Given the description of an element on the screen output the (x, y) to click on. 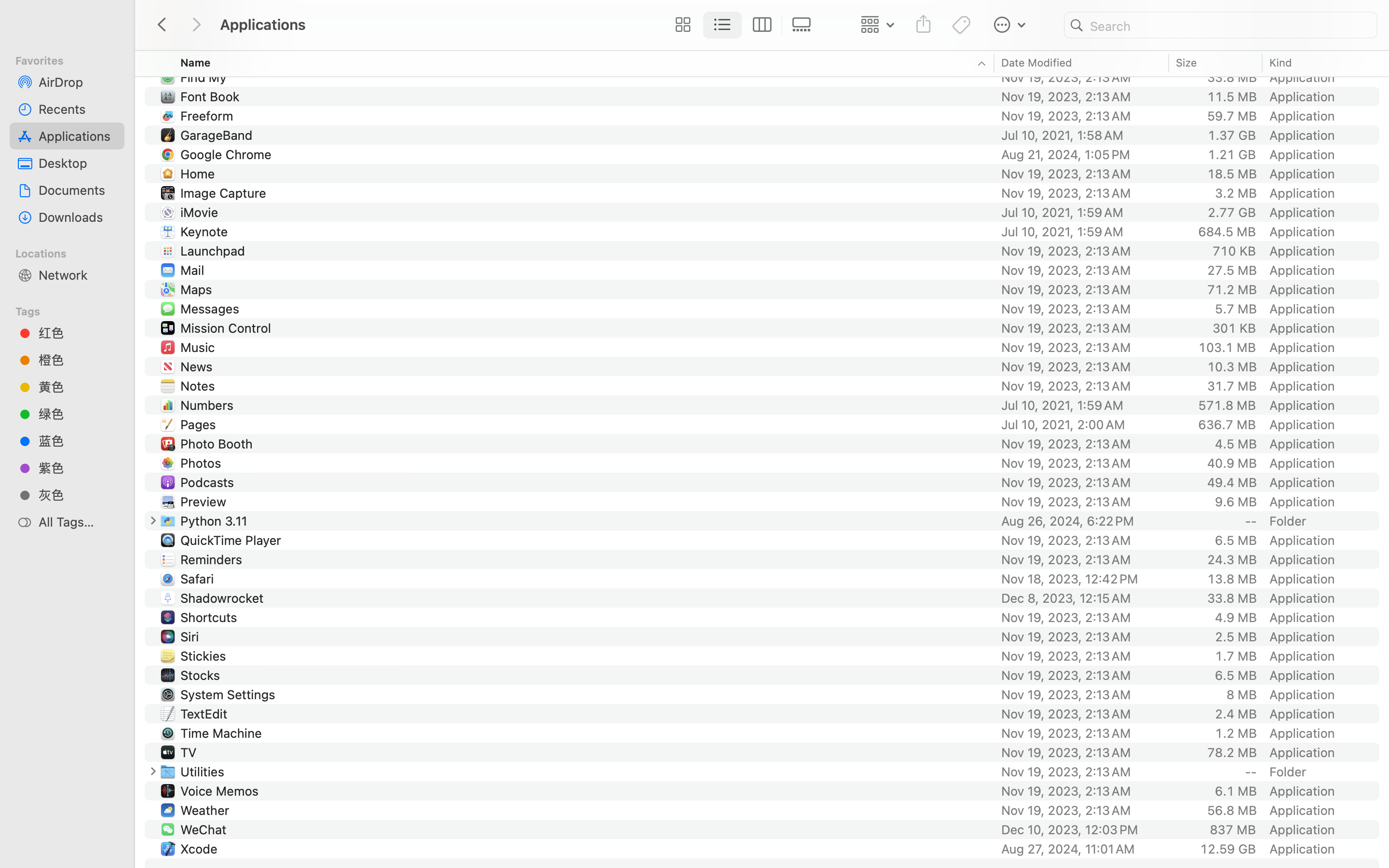
5.7 MB Element type: AXStaticText (1235, 308)
Shadowrocket Element type: AXTextField (224, 597)
灰色 Element type: AXStaticText (77, 494)
Time Machine Element type: AXTextField (223, 732)
绿色 Element type: AXStaticText (77, 413)
